Given the description of an element on the screen output the (x, y) to click on. 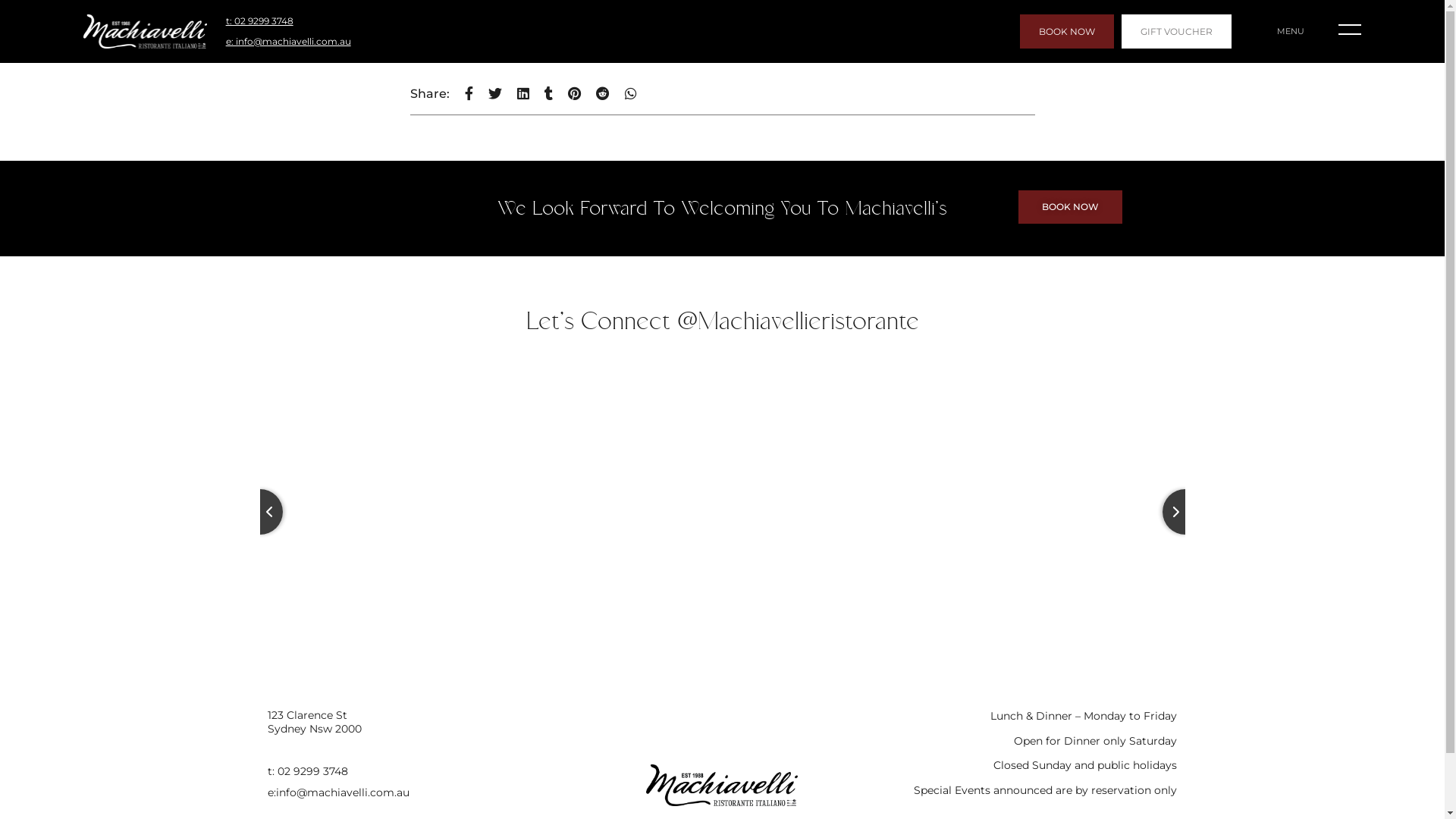
e: info@machiavelli.com.au Element type: text (288, 41)
BOOK NOW Element type: text (1069, 206)
t: 02 9299 3748 Element type: text (413, 771)
123 Clarence St
Sydney Nsw 2000 Element type: text (413, 721)
MENU Element type: text (1290, 30)
GIFT VOUCHER Element type: text (1176, 31)
BOOK NOW Element type: text (1066, 31)
t: 02 9299 3748 Element type: text (259, 21)
e:info@machiavelli.com.au Element type: text (413, 792)
